Given the description of an element on the screen output the (x, y) to click on. 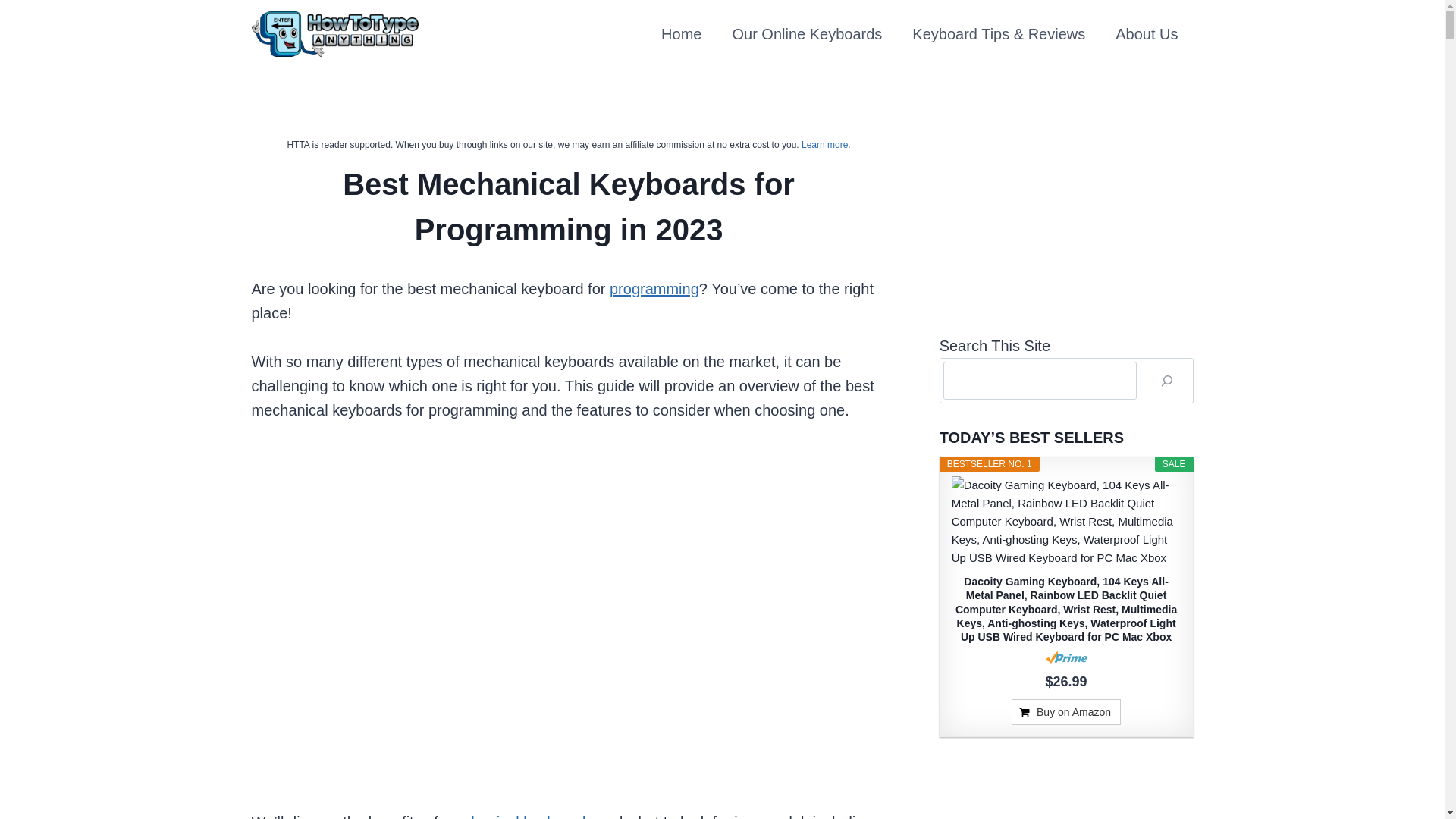
programming (654, 288)
Our Online Keyboards (806, 34)
mechanical keyboards (517, 816)
Home (681, 34)
About Us (1146, 34)
Learn more (824, 144)
